Given the description of an element on the screen output the (x, y) to click on. 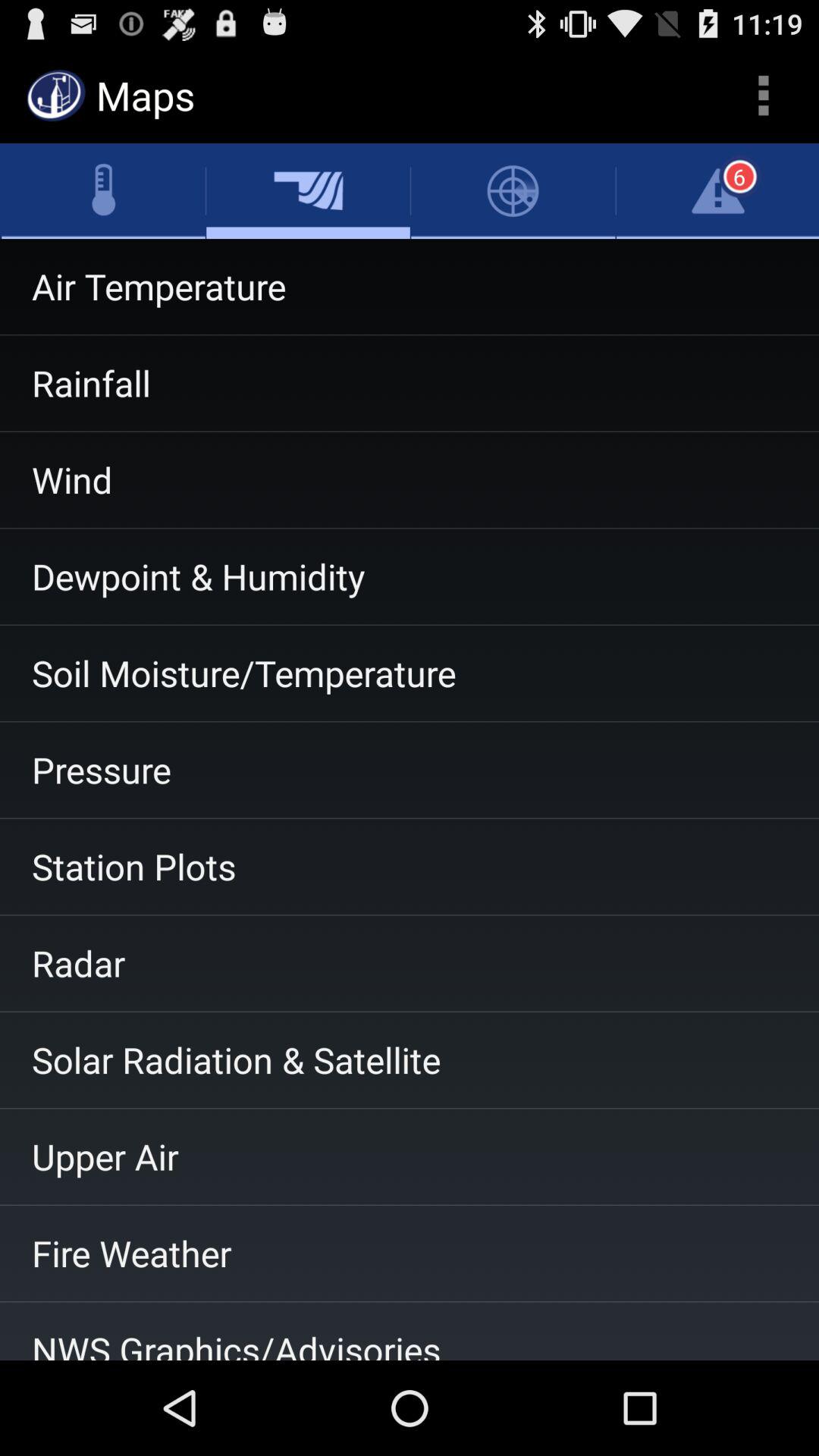
turn on upper air app (409, 1156)
